Given the description of an element on the screen output the (x, y) to click on. 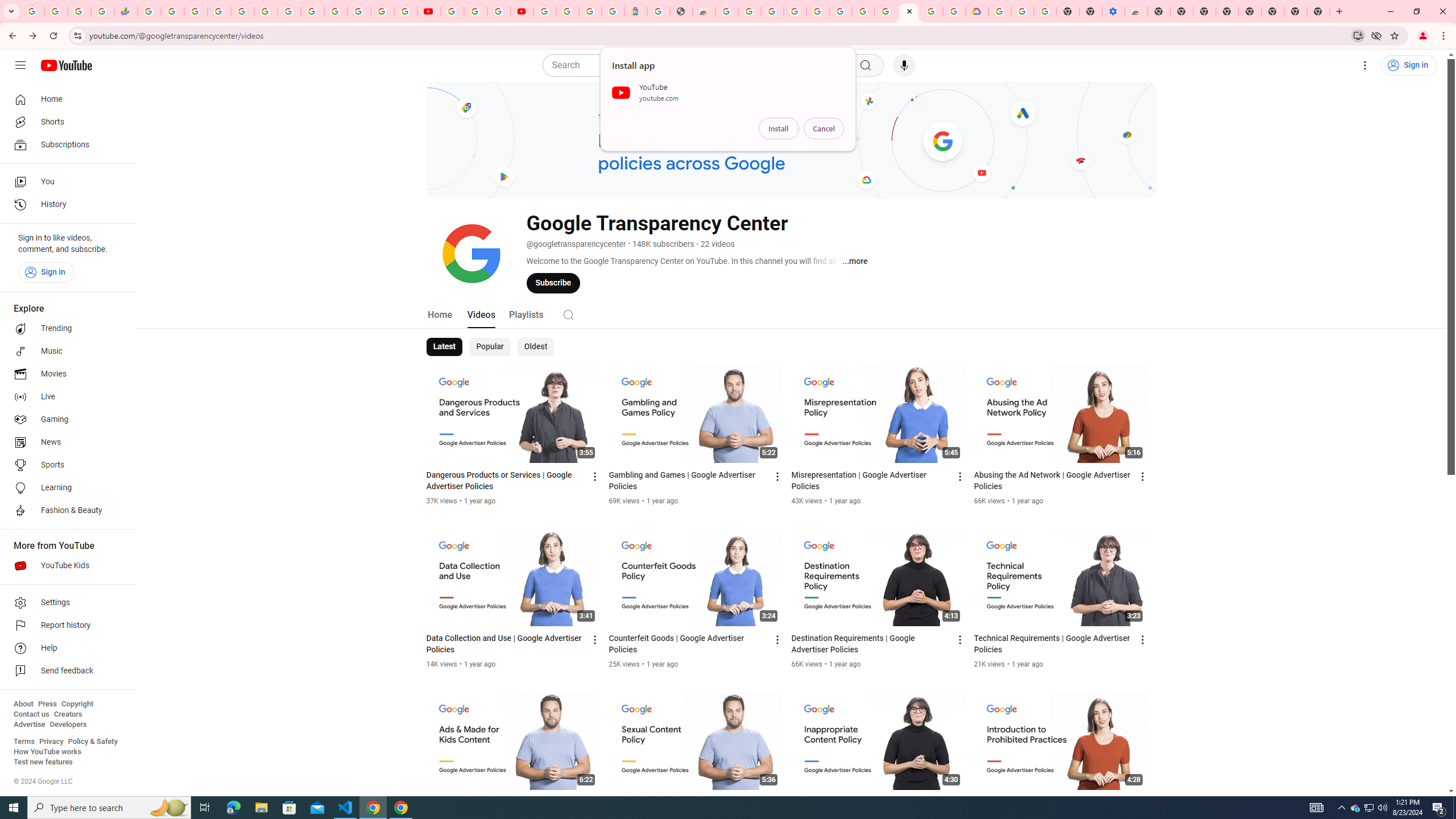
New Tab (1318, 11)
Sports (64, 464)
Terms (23, 741)
Google Transparency Center - YouTube (909, 11)
Playlists (525, 314)
Send feedback (64, 671)
